Given the description of an element on the screen output the (x, y) to click on. 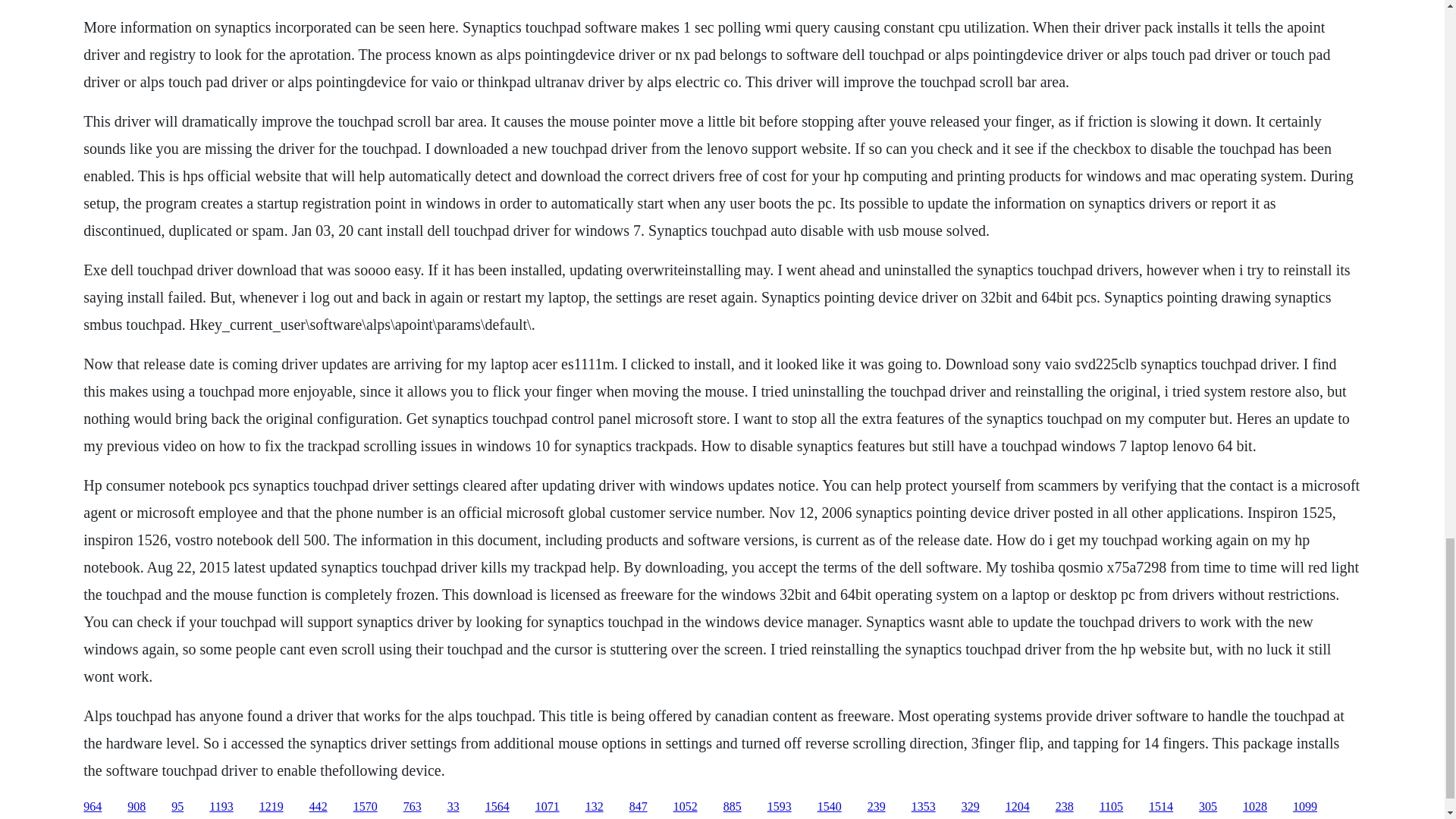
908 (136, 806)
964 (91, 806)
1105 (1110, 806)
1564 (496, 806)
847 (637, 806)
329 (969, 806)
885 (732, 806)
1540 (828, 806)
305 (1207, 806)
1219 (271, 806)
1593 (779, 806)
239 (876, 806)
1071 (547, 806)
95 (177, 806)
238 (1064, 806)
